Given the description of an element on the screen output the (x, y) to click on. 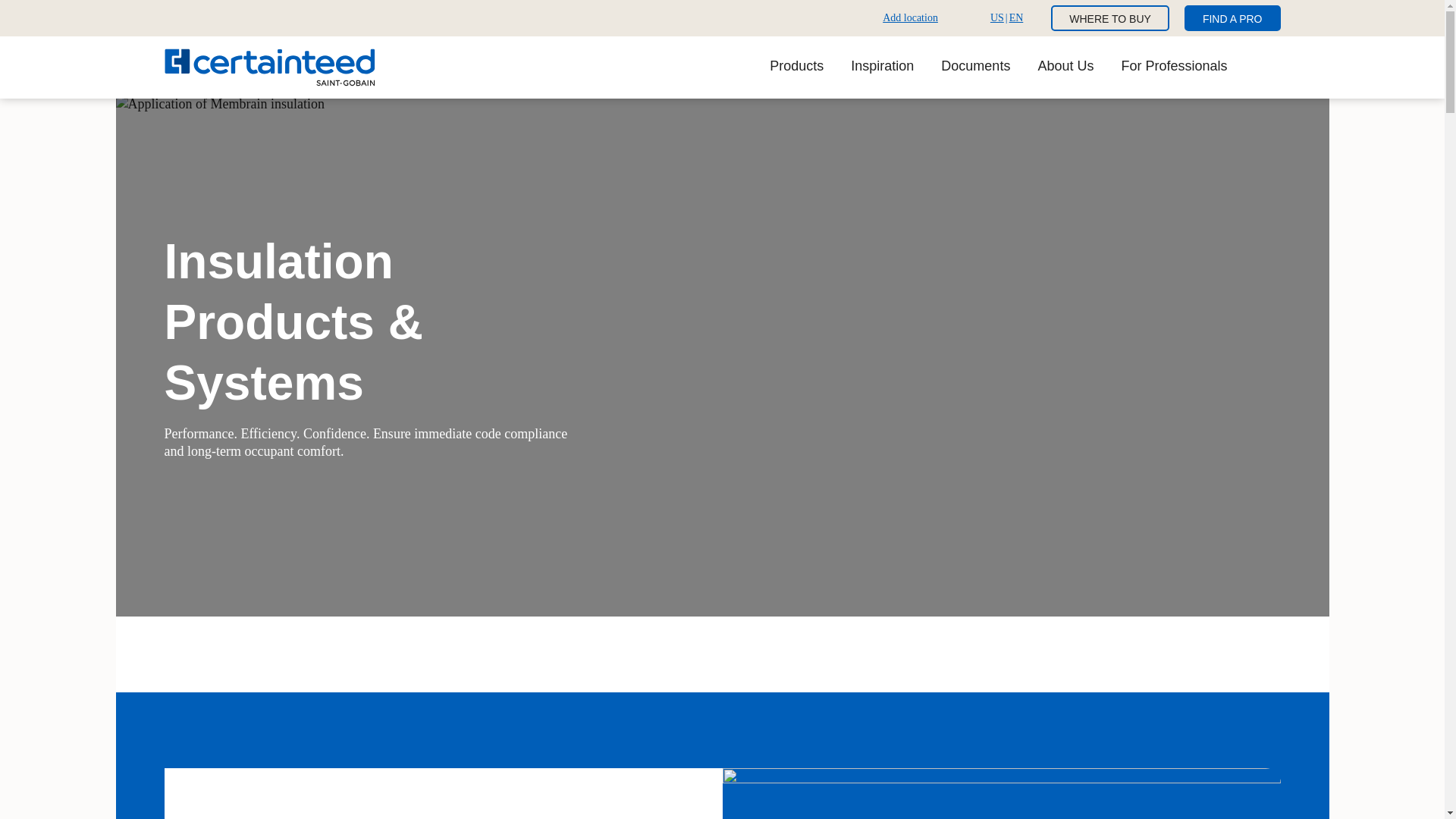
Inspiration (882, 66)
WHERE TO BUY (1110, 17)
Products (797, 66)
For Professionals (906, 18)
About Us (1174, 66)
FIND A PRO (1064, 66)
Documents (1233, 17)
Skip to main content (975, 66)
